Given the description of an element on the screen output the (x, y) to click on. 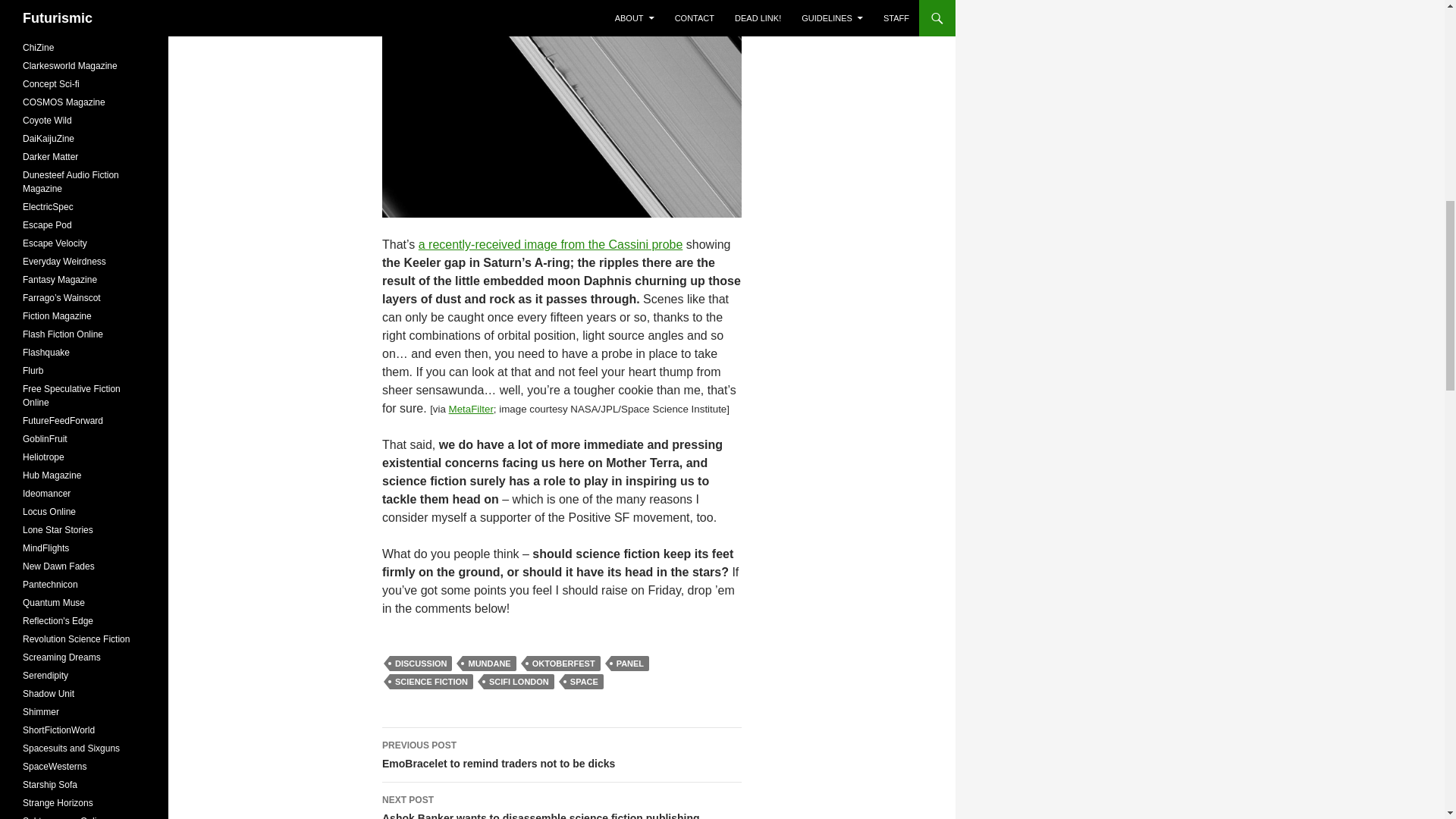
MetaFilter (470, 408)
SCIENCE FICTION (431, 681)
Saturn at Equinox - MetaFilter (470, 408)
SPACE (584, 681)
PANEL (630, 663)
a recently-received image from the Cassini probe (550, 244)
SCIFI LONDON (518, 681)
The Keeler gaap in Saturn's A Ring (561, 109)
DISCUSSION (420, 663)
